Given the description of an element on the screen output the (x, y) to click on. 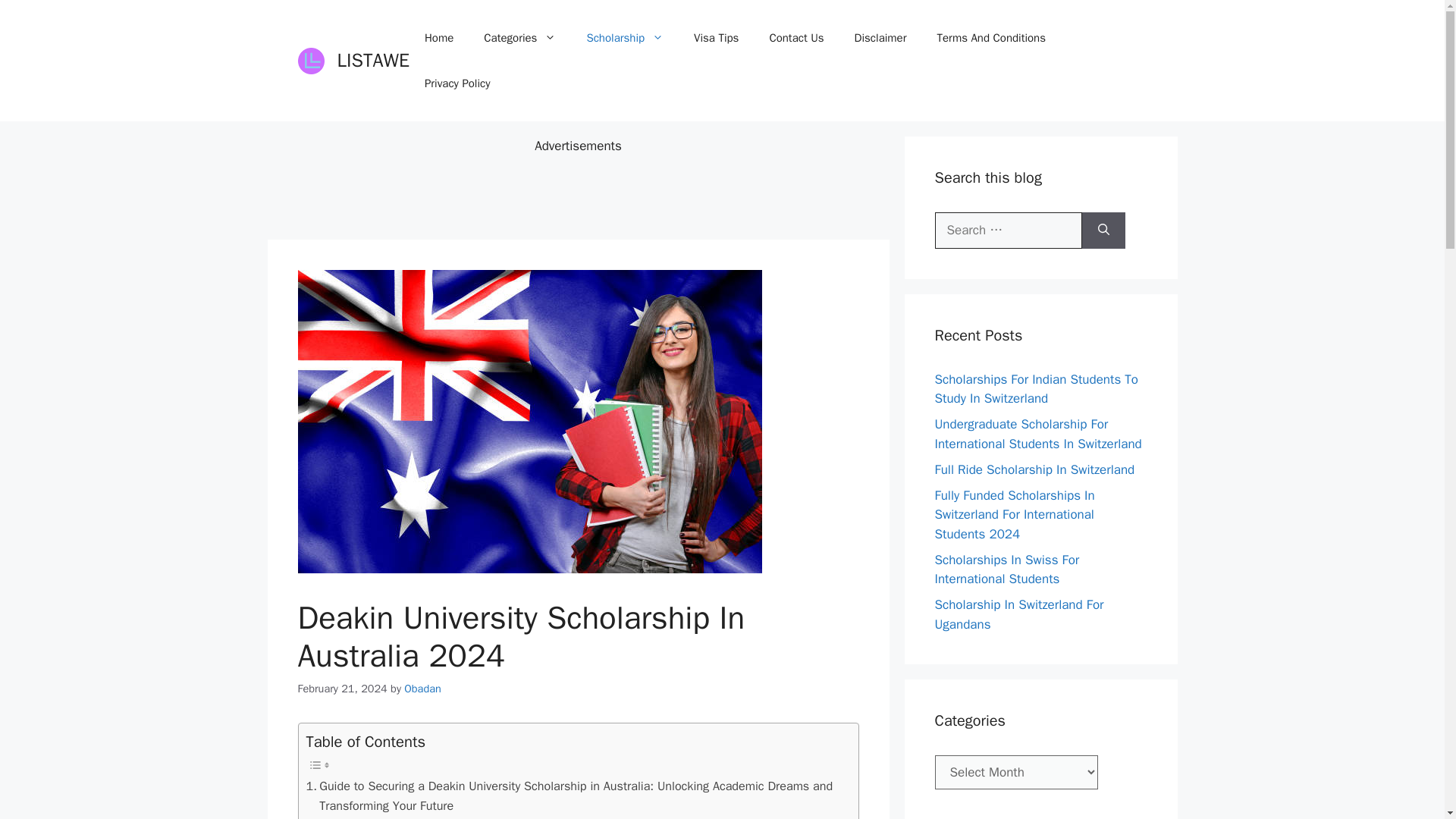
Scholarship (624, 37)
Home (438, 37)
Contact Us (796, 37)
Privacy Policy (457, 83)
LISTAWE (372, 60)
Navigating the Diverse Scholarship Landscape: (437, 816)
Navigating the Diverse Scholarship Landscape: (437, 816)
Visa Tips (716, 37)
Obadan (422, 687)
Categories (519, 37)
Search for: (1007, 230)
Disclaimer (880, 37)
View all posts by Obadan (422, 687)
Terms And Conditions (991, 37)
